Given the description of an element on the screen output the (x, y) to click on. 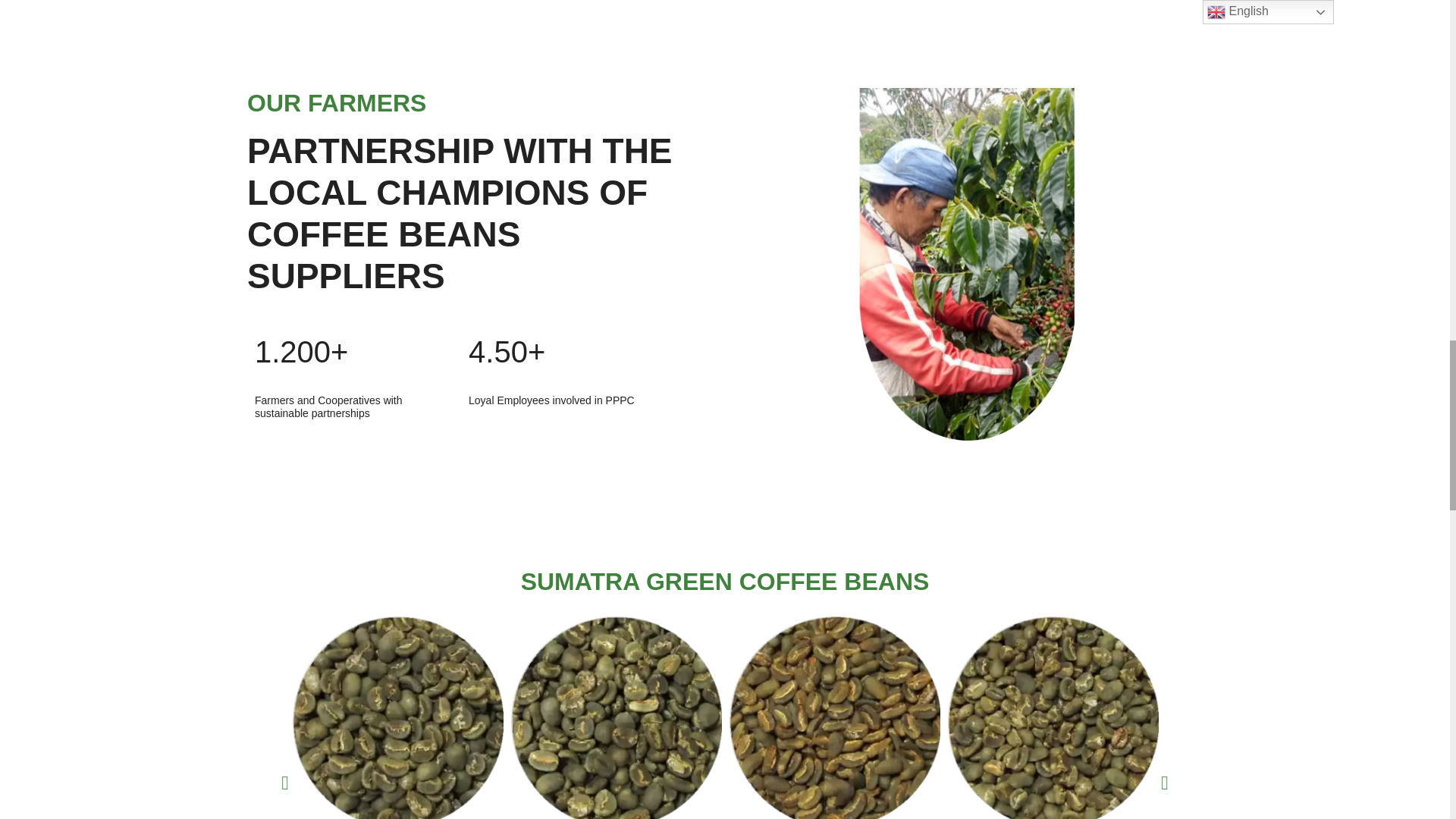
Sumatra Coffee Supplier 6 (834, 717)
Sumatra Coffee Supplier 3 (968, 263)
Sumatra Coffee Supplier 4 (397, 717)
Sumatra Coffee Supplier 7 (1052, 717)
Sumatra Coffee Supplier 5 (616, 717)
